Given the description of an element on the screen output the (x, y) to click on. 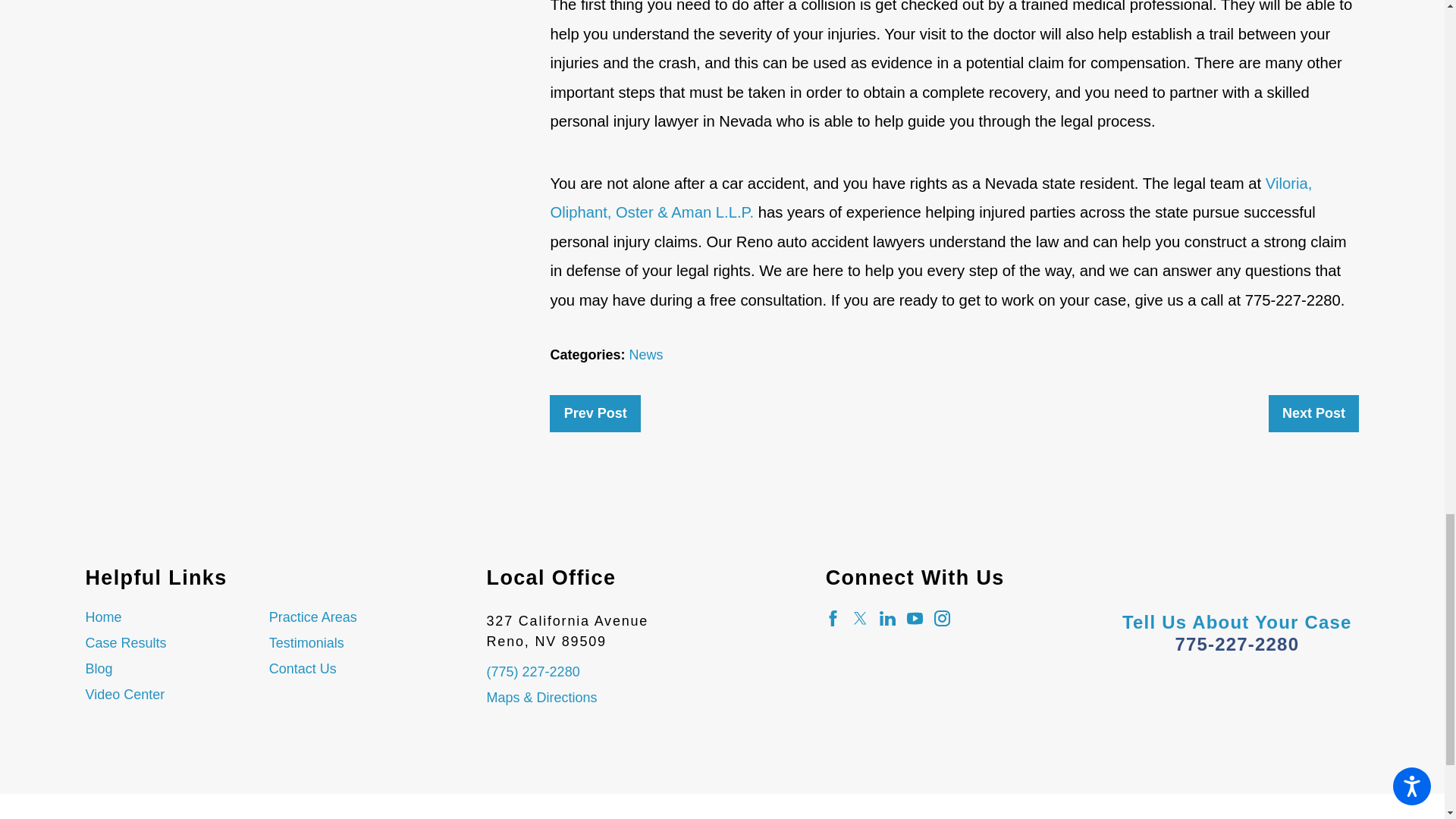
YouTube (915, 618)
Instagram (942, 618)
LinkedIn (887, 618)
Twitter (859, 618)
Facebook (833, 618)
